Given the description of an element on the screen output the (x, y) to click on. 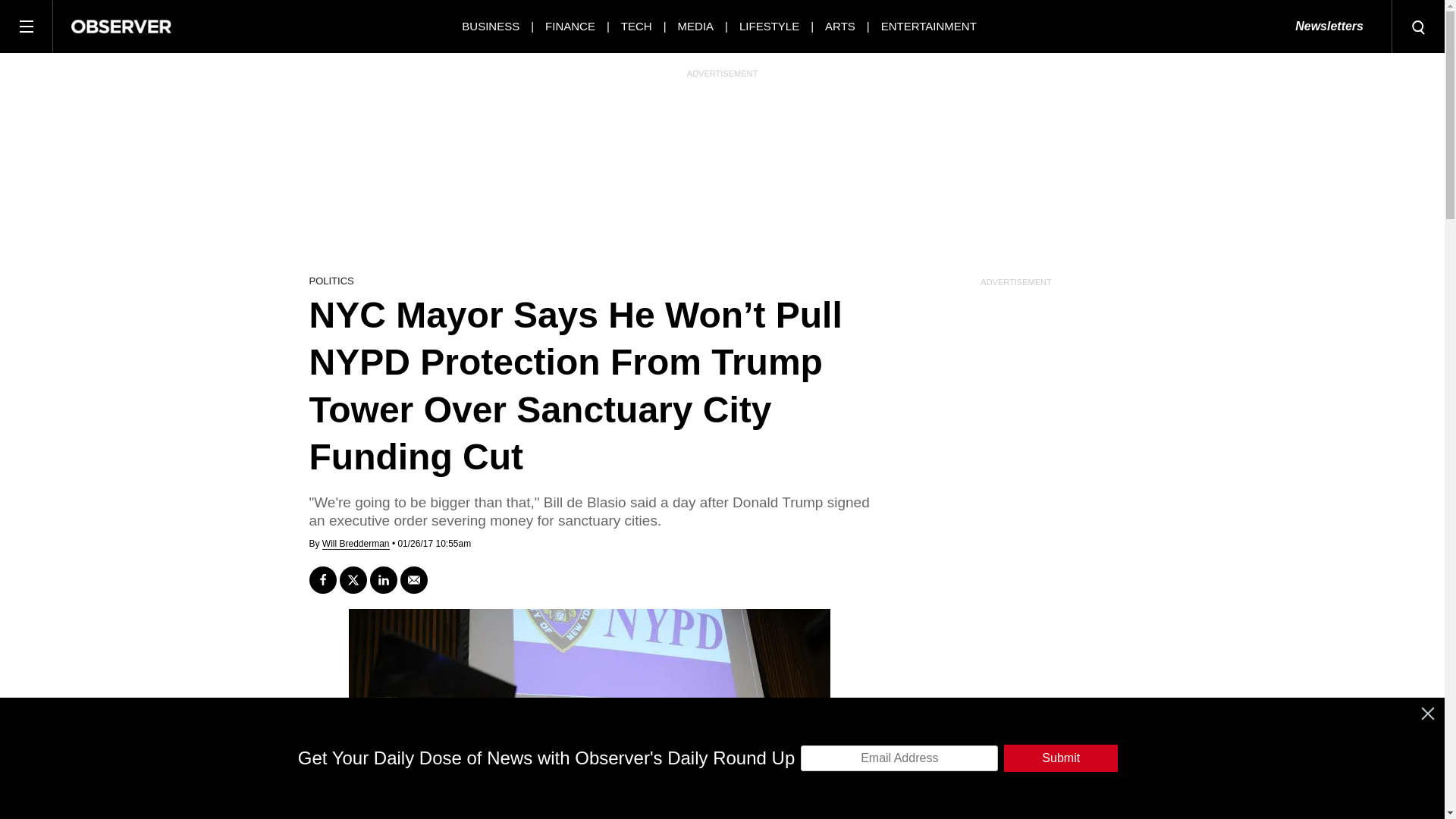
TECH (636, 25)
Observer (121, 26)
View All Posts by Will Bredderman (355, 543)
3rd party ad content (721, 785)
3rd party ad content (721, 170)
Newsletters (1329, 26)
LIFESTYLE (769, 25)
ARTS (840, 25)
Share on LinkedIn (383, 579)
MEDIA (696, 25)
FINANCE (569, 25)
BUSINESS (490, 25)
Send email (414, 579)
Share on Facebook (322, 579)
Tweet (352, 579)
